Given the description of an element on the screen output the (x, y) to click on. 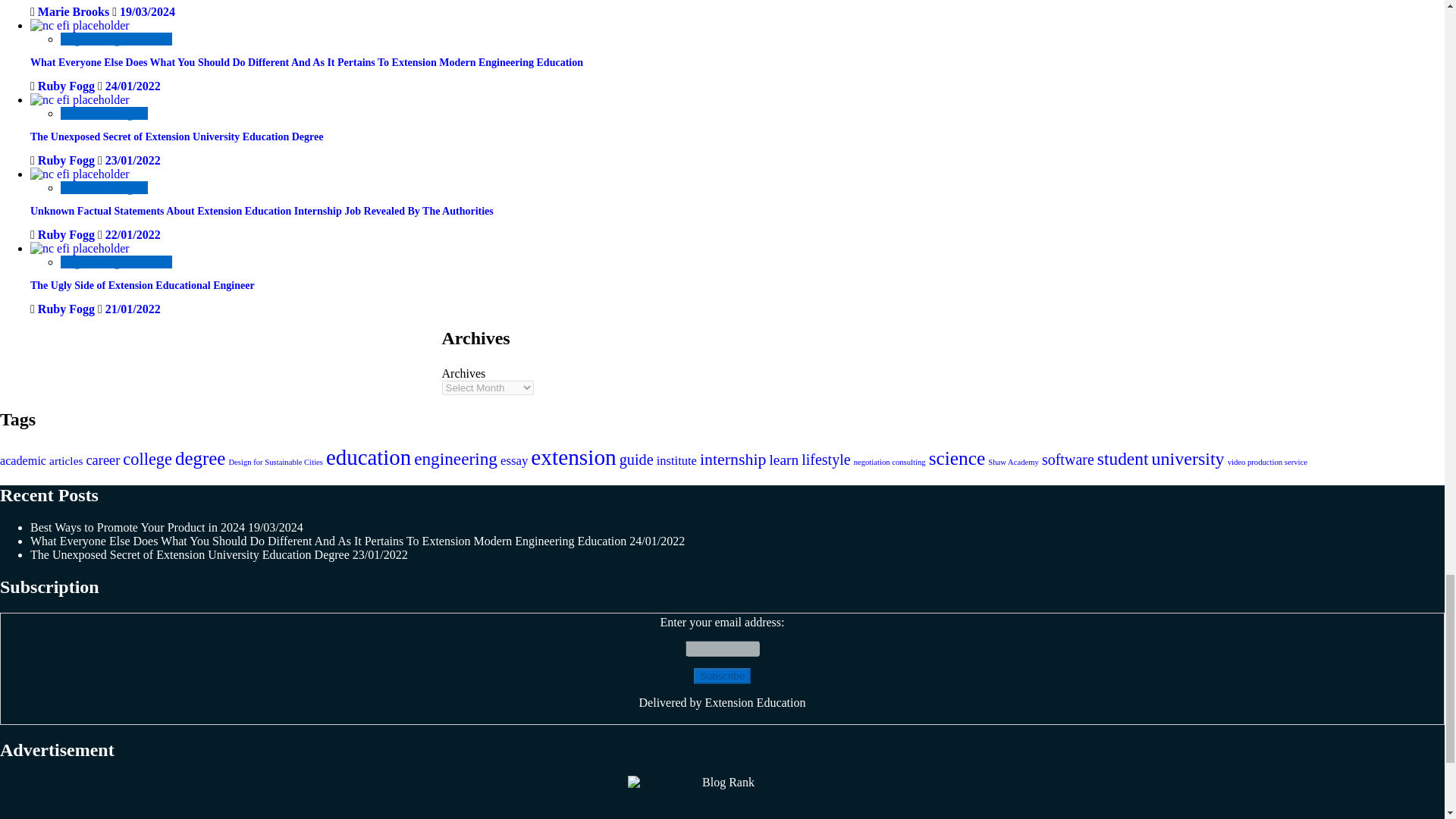
Subscribe (722, 675)
